Given the description of an element on the screen output the (x, y) to click on. 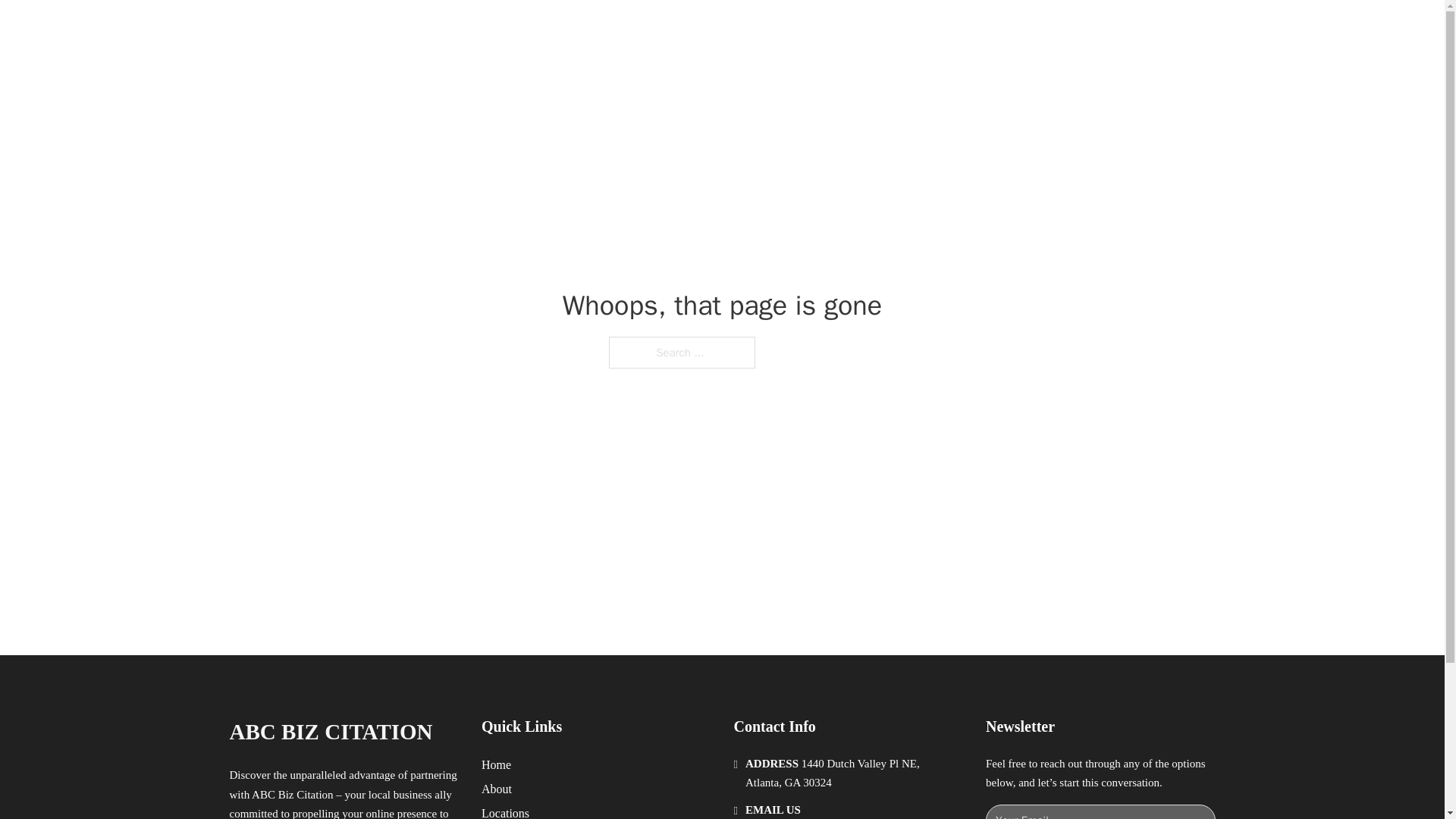
Home (496, 764)
Locations (505, 811)
ABC BIZ CITATION (400, 28)
LOCATIONS (990, 29)
ABC BIZ CITATION (330, 732)
HOME (919, 29)
About (496, 788)
